Given the description of an element on the screen output the (x, y) to click on. 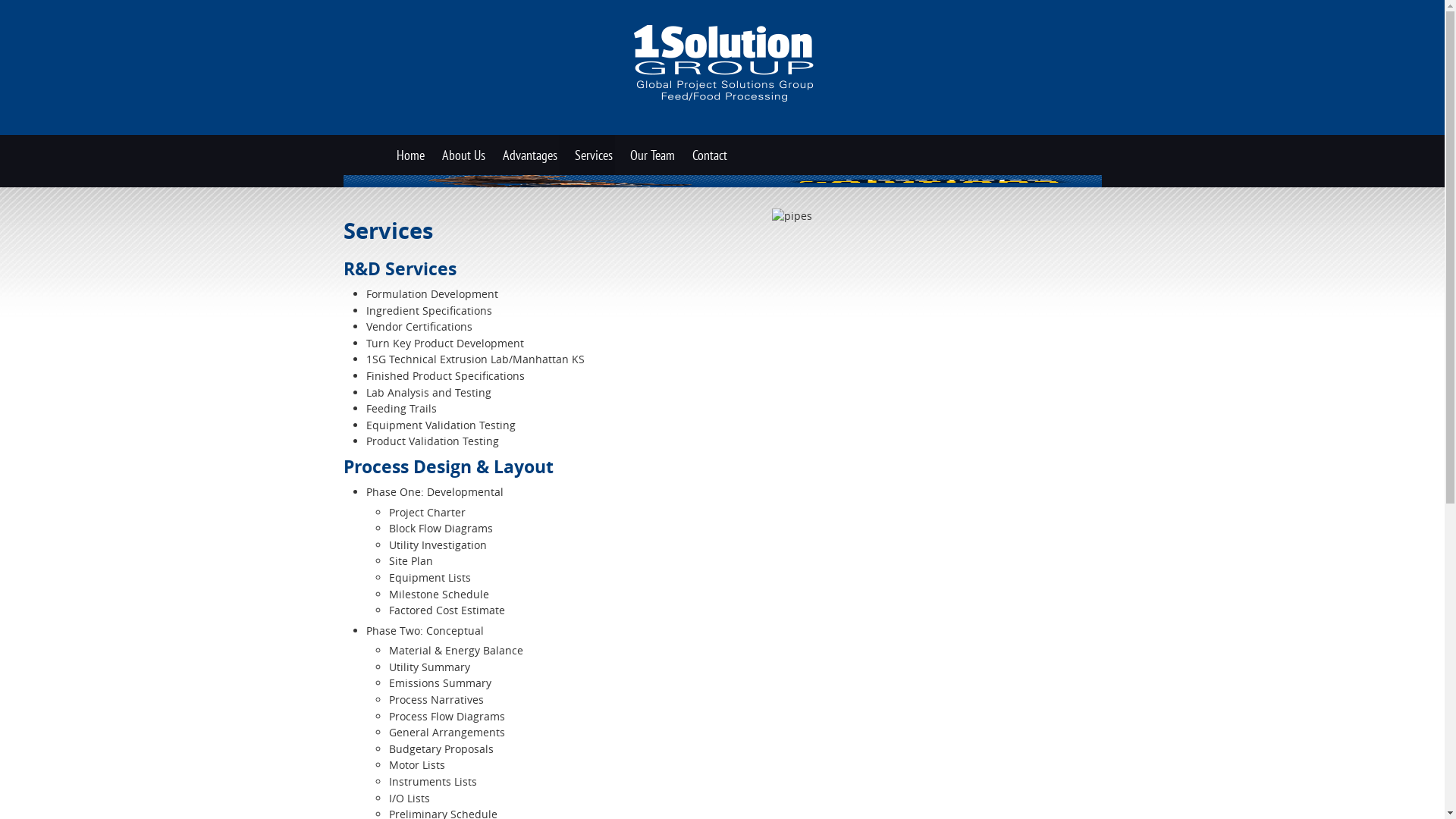
Services Element type: text (587, 154)
Home Element type: text (403, 154)
Advantages Element type: text (522, 154)
Contact Element type: text (702, 154)
About Us Element type: text (456, 154)
Our Team Element type: text (645, 154)
